Given the description of an element on the screen output the (x, y) to click on. 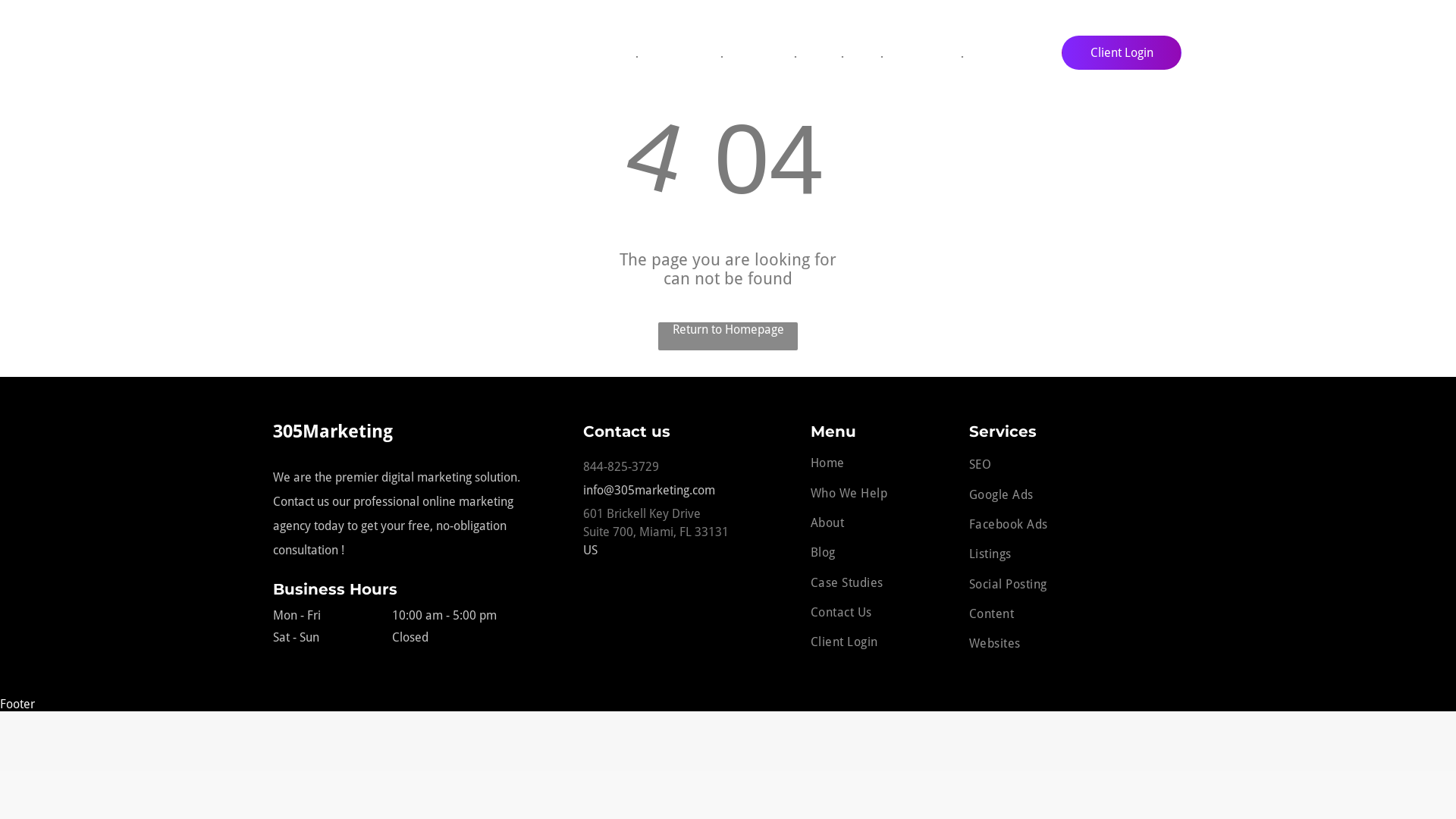
Blog Element type: text (879, 552)
Contact Us Element type: text (997, 53)
Facebook Ads Element type: text (1076, 524)
Home Element type: text (879, 462)
About Element type: text (879, 522)
Google Ads Element type: text (1076, 493)
Case Studies Element type: text (921, 53)
Content Element type: text (1076, 613)
Return to Homepage Element type: text (727, 336)
Case Studies Element type: text (879, 581)
Services Element type: text (758, 53)
Who We Help Element type: text (879, 492)
info@305marketing.com Element type: text (690, 490)
Client Login Element type: text (879, 641)
Blog Element type: text (862, 53)
Contact Us Element type: text (879, 612)
Listings Element type: text (1076, 553)
Home Element type: text (612, 53)
SEO Element type: text (1076, 464)
Websites Element type: text (1076, 643)
Social Posting Element type: text (1076, 583)
About Element type: text (818, 53)
Client Login Element type: text (1121, 52)
Who We Help Element type: text (679, 53)
